Given the description of an element on the screen output the (x, y) to click on. 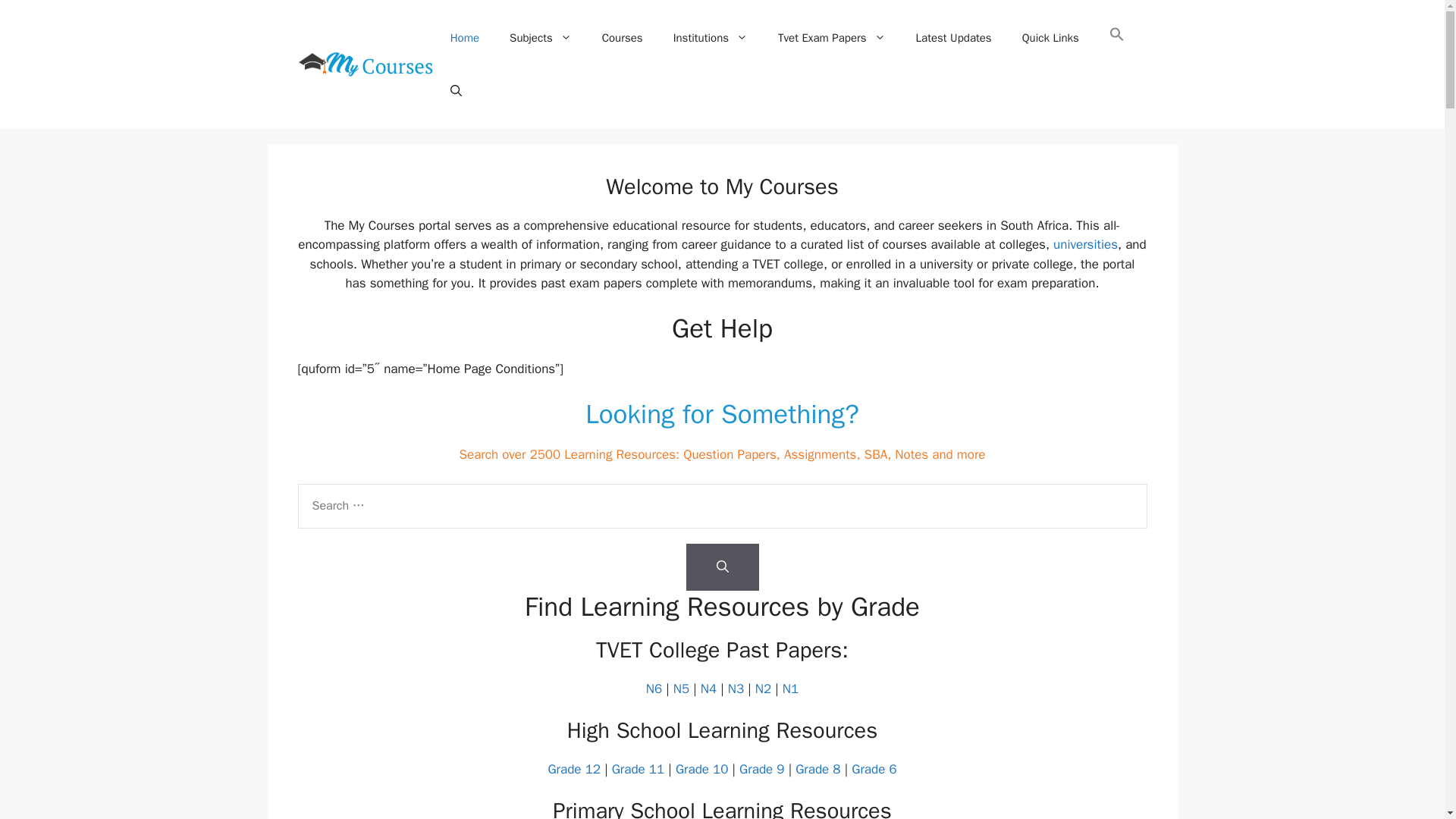
Home (465, 37)
Search for: (722, 506)
Courses (622, 37)
Tvet Exam Papers (831, 37)
Subjects (540, 37)
Institutions (710, 37)
Universities (1085, 244)
